Given the description of an element on the screen output the (x, y) to click on. 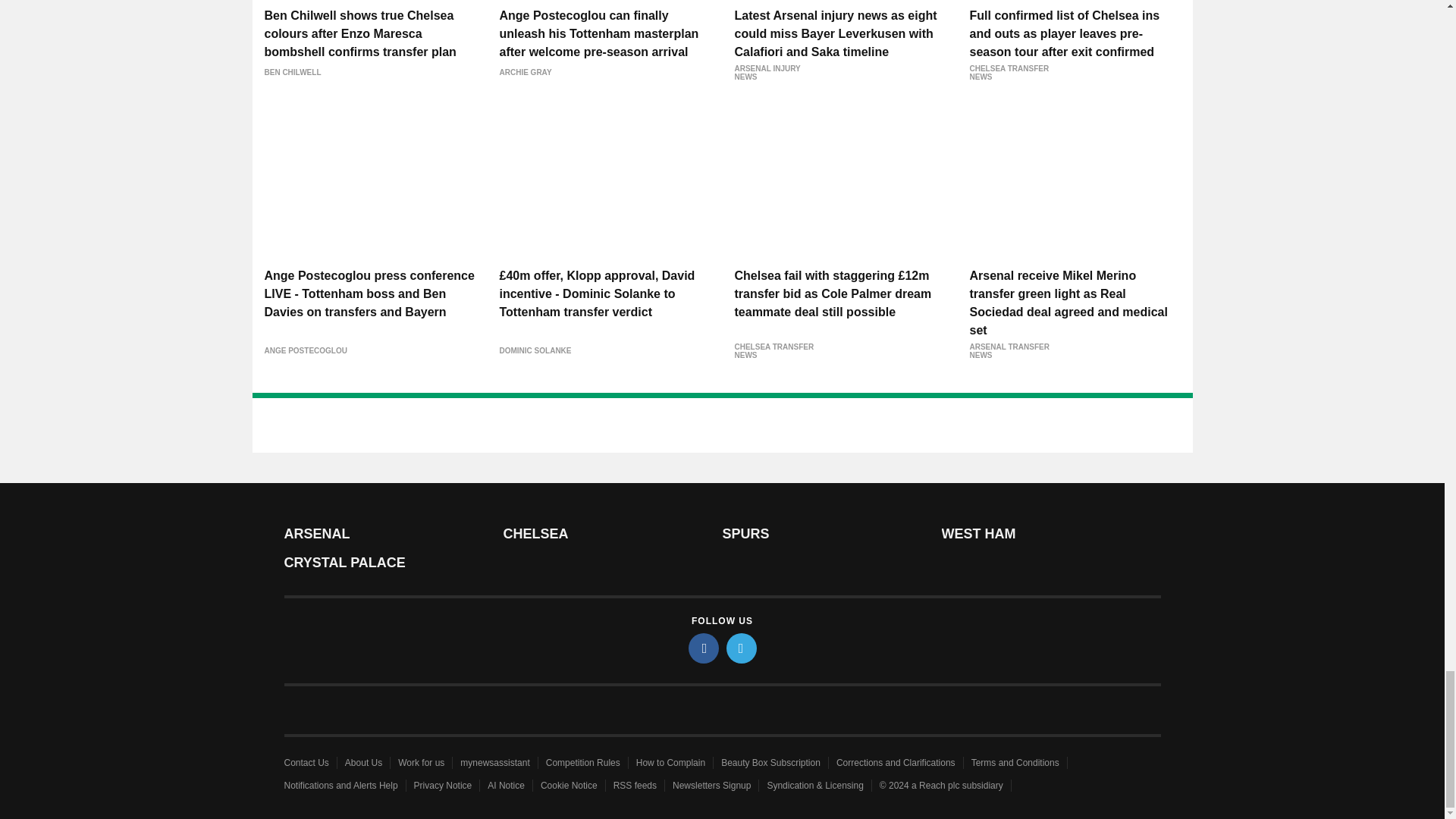
facebook (703, 648)
twitter (741, 648)
